Given the description of an element on the screen output the (x, y) to click on. 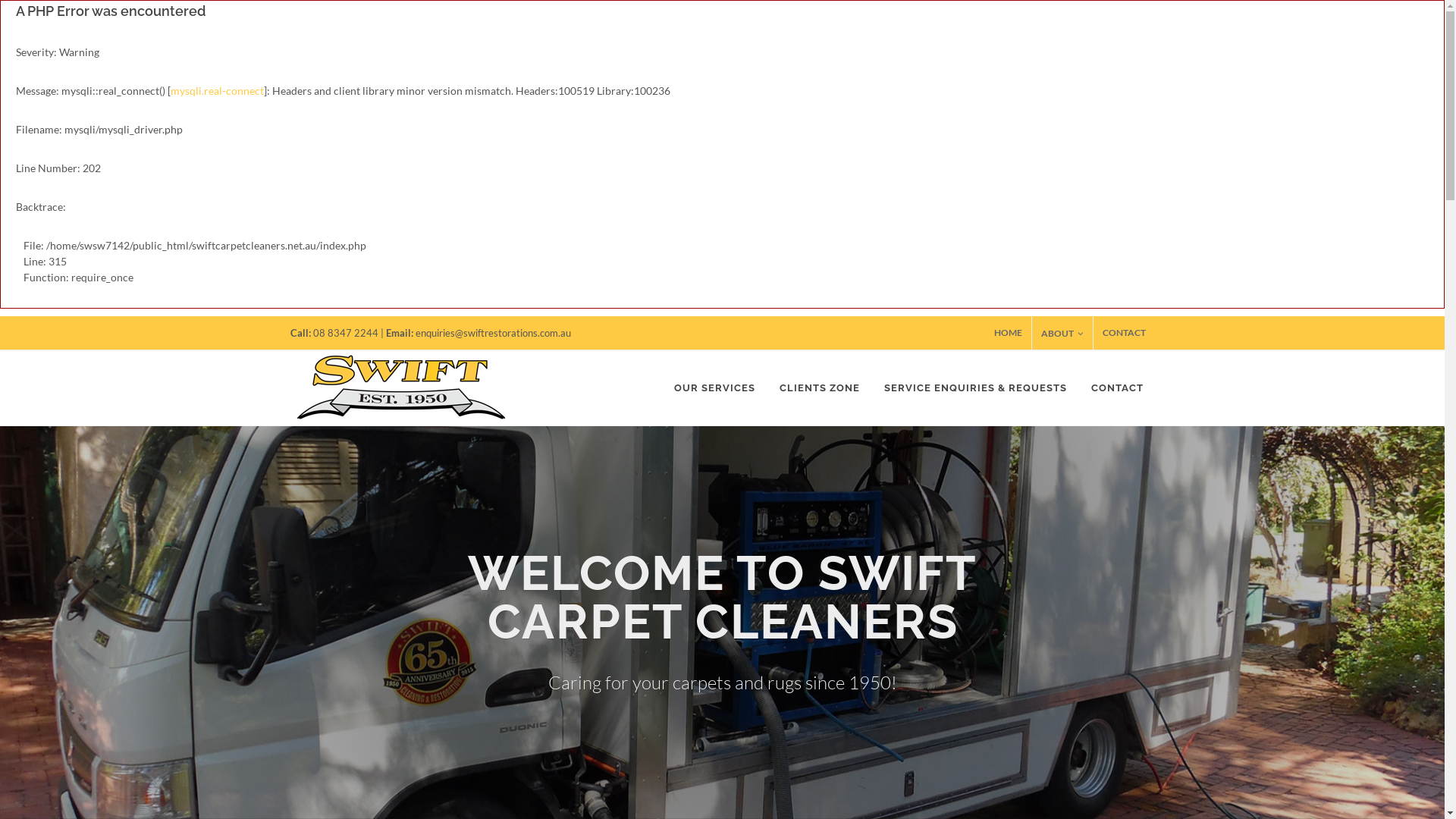
ABOUT Element type: text (1061, 332)
HOME Element type: text (1007, 332)
mysqli.real-connect Element type: text (216, 90)
CLIENTS ZONE Element type: text (818, 388)
OUR SERVICES Element type: text (714, 388)
CONTACT Element type: text (1123, 332)
CONTACT Element type: text (1116, 388)
SERVICE ENQUIRIES & REQUESTS Element type: text (974, 388)
